Given the description of an element on the screen output the (x, y) to click on. 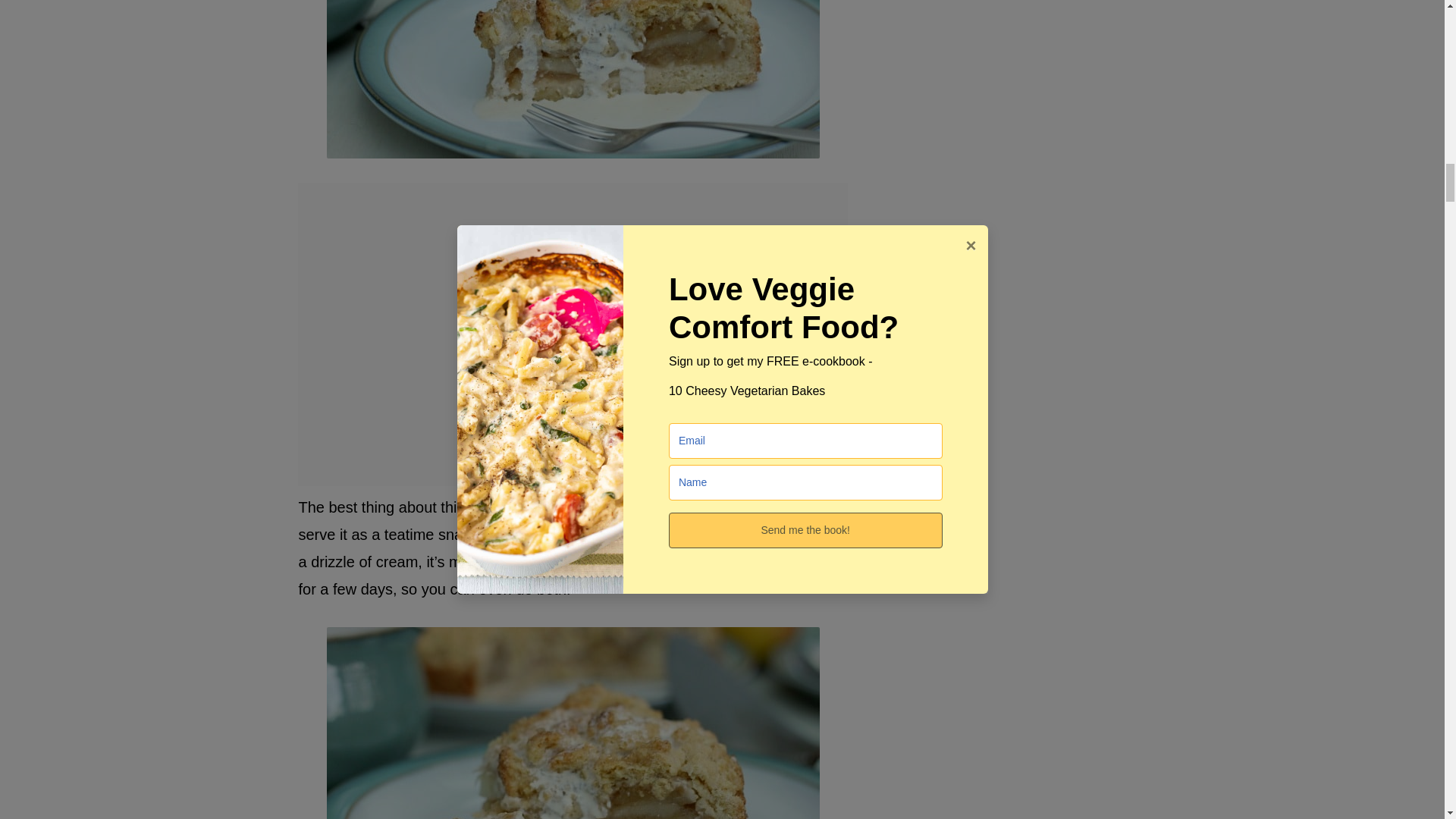
Apple crumble cake (572, 79)
Apple crumble cake (572, 723)
